Given the description of an element on the screen output the (x, y) to click on. 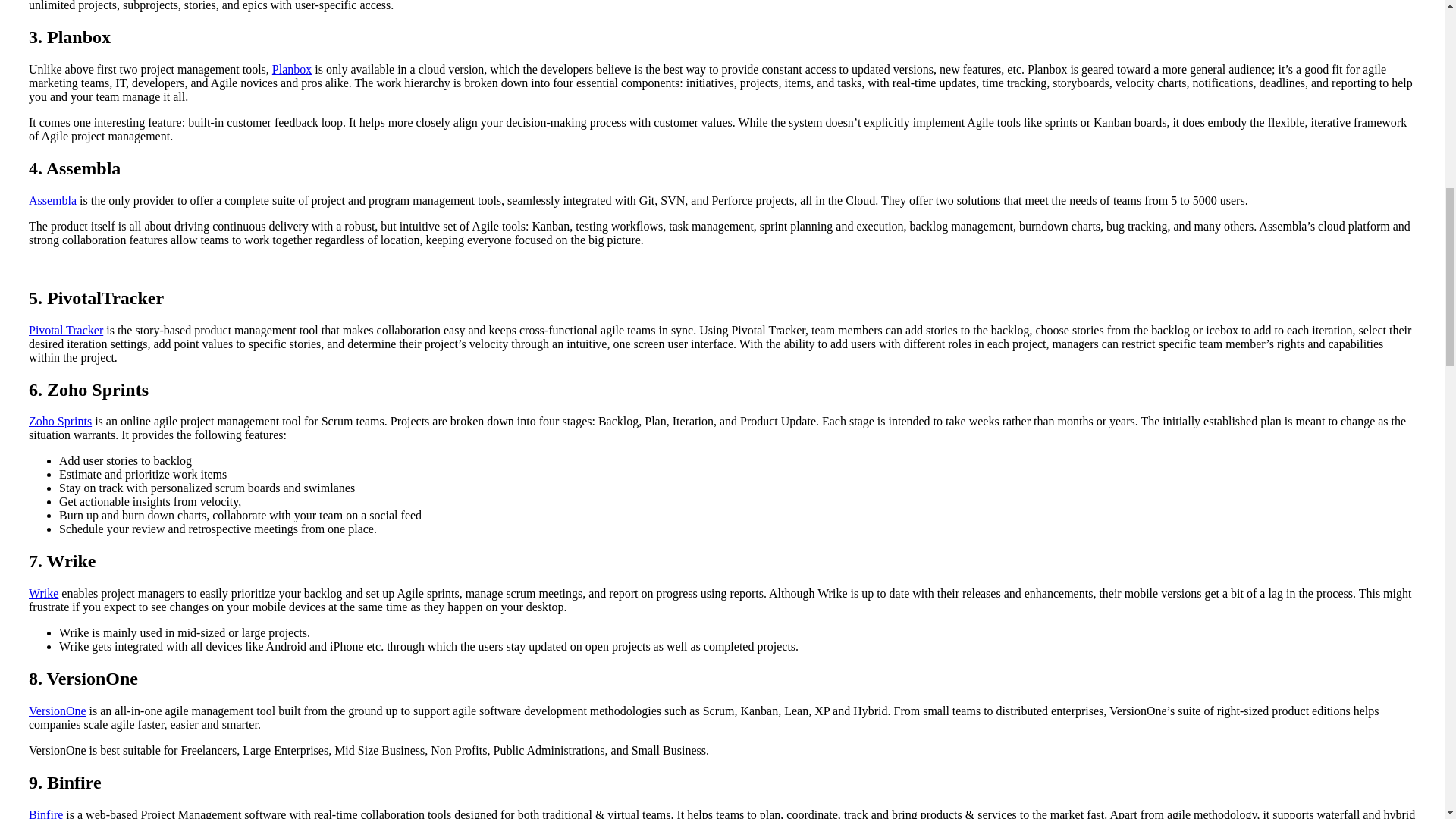
Zoho Sprints (60, 420)
Binfire (45, 813)
Planbox (291, 69)
Wrike (43, 593)
Pivotal Tracker (66, 329)
VersionOne (57, 710)
Assembla (53, 200)
